Given the description of an element on the screen output the (x, y) to click on. 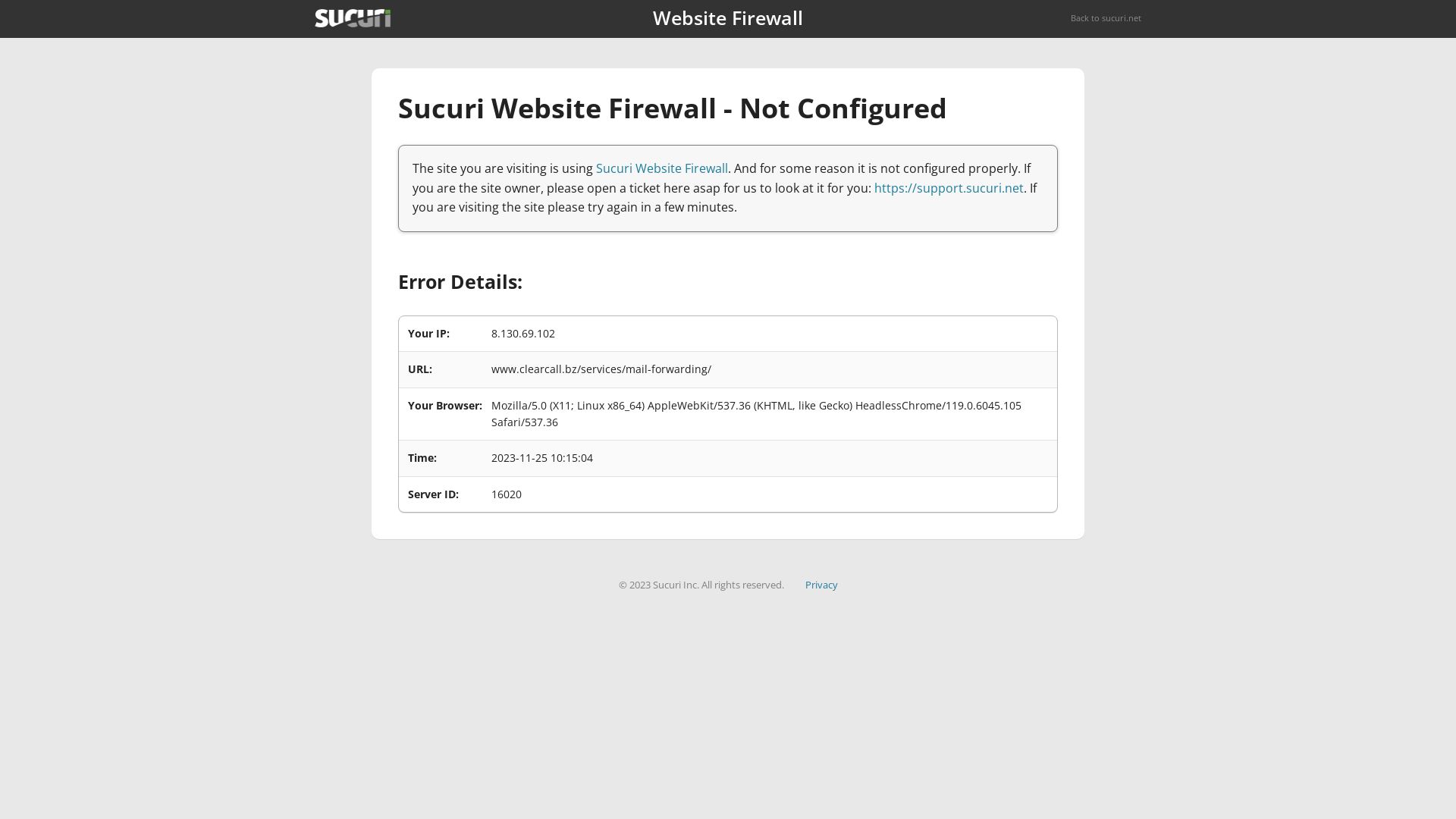
Privacy Element type: text (821, 584)
Back to sucuri.net Element type: text (1105, 18)
https://support.sucuri.net Element type: text (948, 187)
Sucuri Website Firewall Element type: text (662, 168)
